Given the description of an element on the screen output the (x, y) to click on. 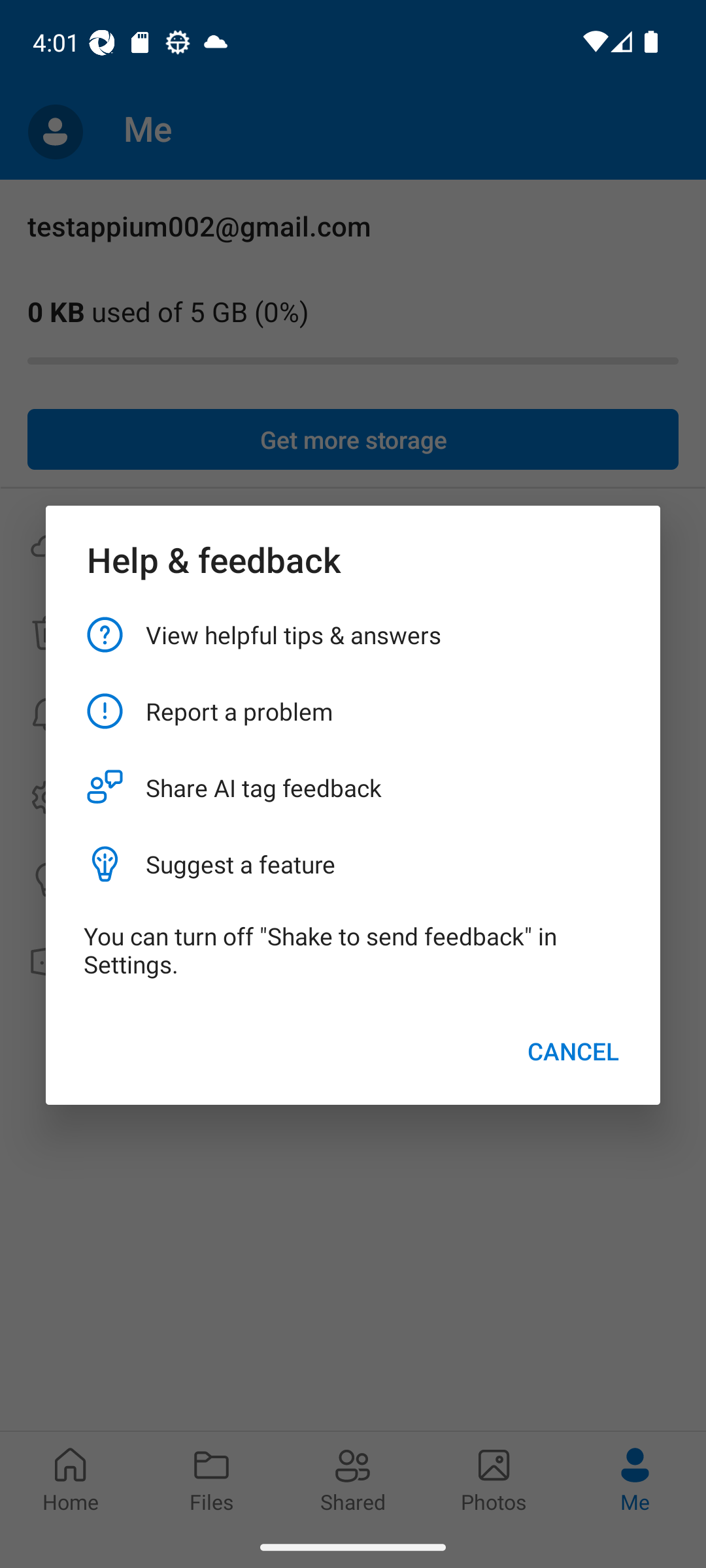
View helpful tips & answers (352, 633)
Report a problem (352, 710)
Share AI tag feedback (352, 787)
Suggest a feature (352, 863)
CANCEL (573, 1051)
